Given the description of an element on the screen output the (x, y) to click on. 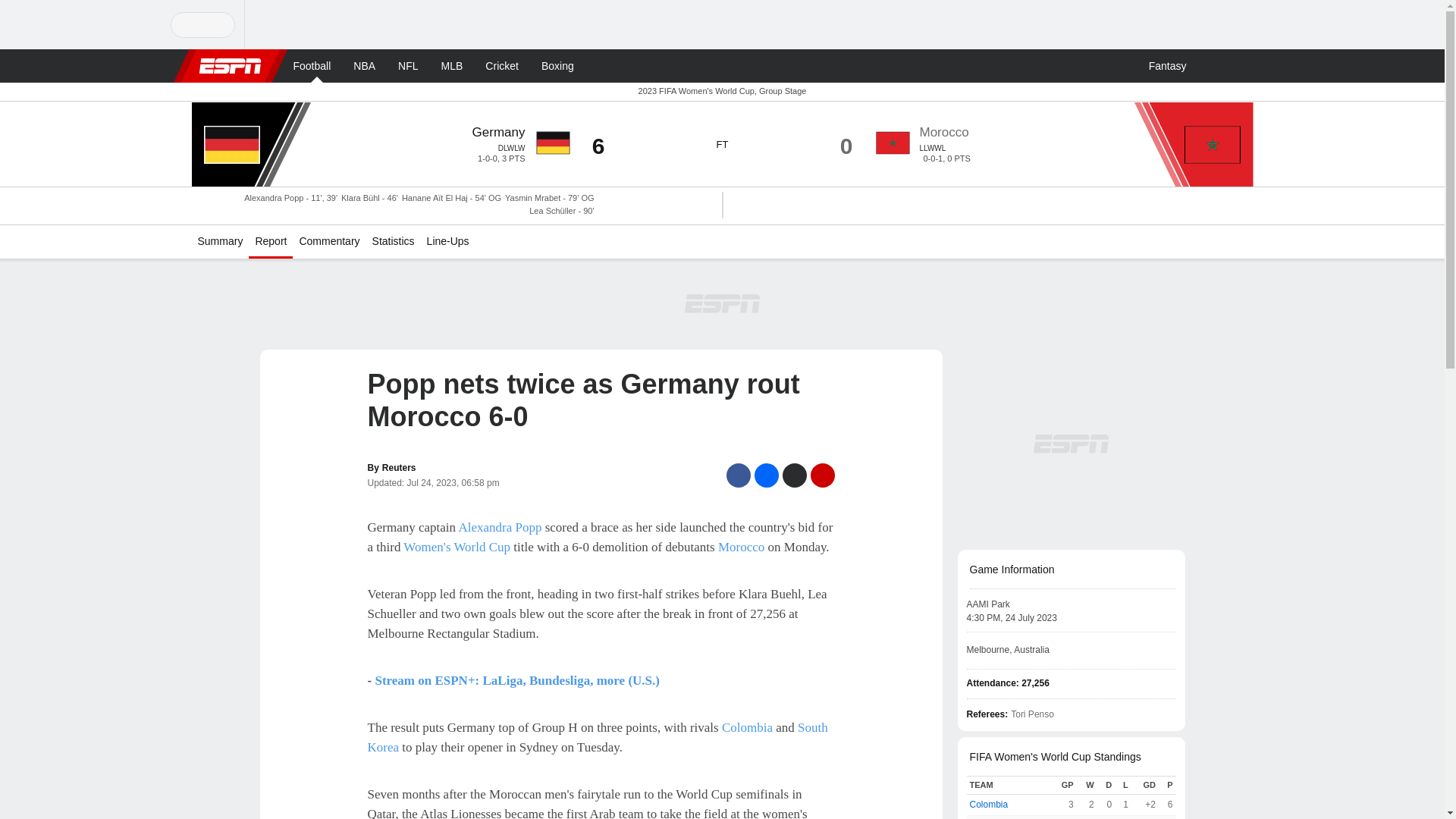
Germany (498, 132)
Line-Ups (448, 241)
Statistics (393, 241)
ESPN (229, 65)
Morocco (943, 132)
Boxing (557, 65)
Fantasy (1167, 65)
NBA (364, 65)
Report (270, 241)
Commentary (328, 241)
Women's World Cup (457, 546)
MLB (451, 65)
Football (311, 65)
NFL (407, 65)
Summary (219, 241)
